Given the description of an element on the screen output the (x, y) to click on. 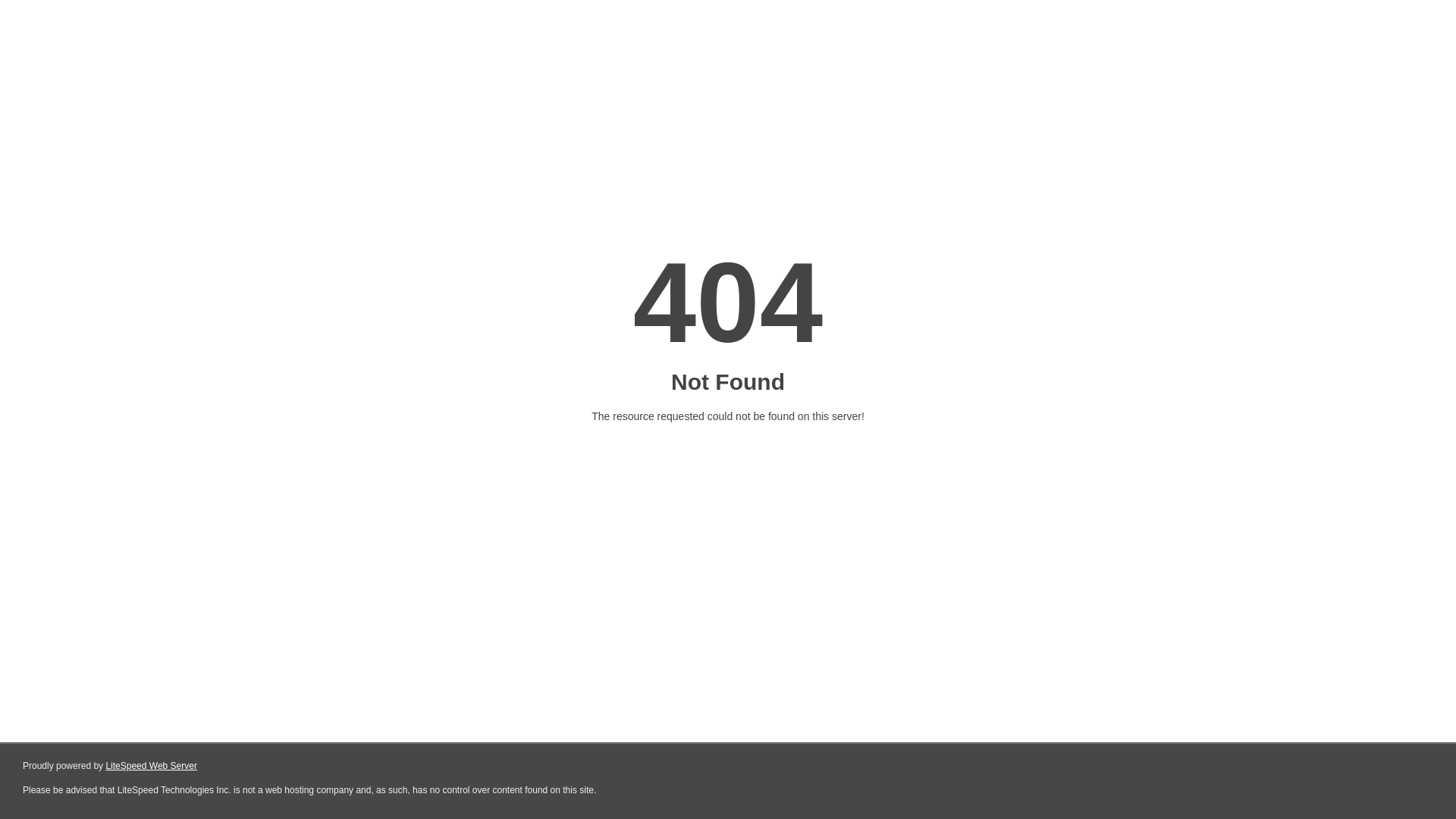
LiteSpeed Web Server Element type: text (151, 765)
